Given the description of an element on the screen output the (x, y) to click on. 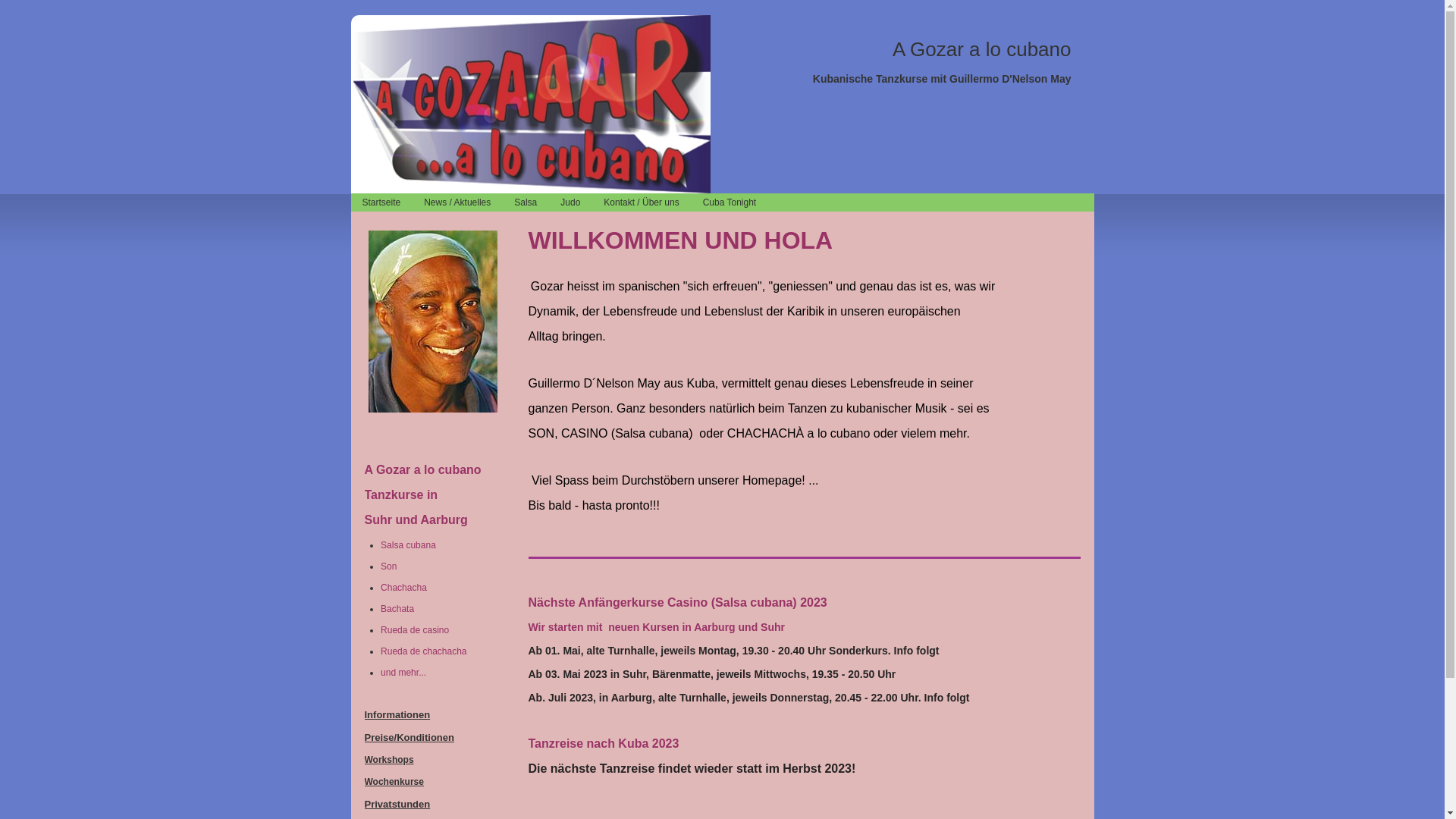
Privatstunden Element type: text (396, 803)
Judo Element type: text (570, 202)
Preise/Konditionen Element type: text (408, 737)
Wochenkurse Element type: text (393, 781)
News / Aktuelles Element type: text (457, 202)
Cuba Tonight Element type: text (729, 202)
Salsa Element type: text (525, 202)
Workshops Element type: text (388, 759)
Startseite Element type: text (381, 202)
Informationen Element type: text (396, 714)
